Given the description of an element on the screen output the (x, y) to click on. 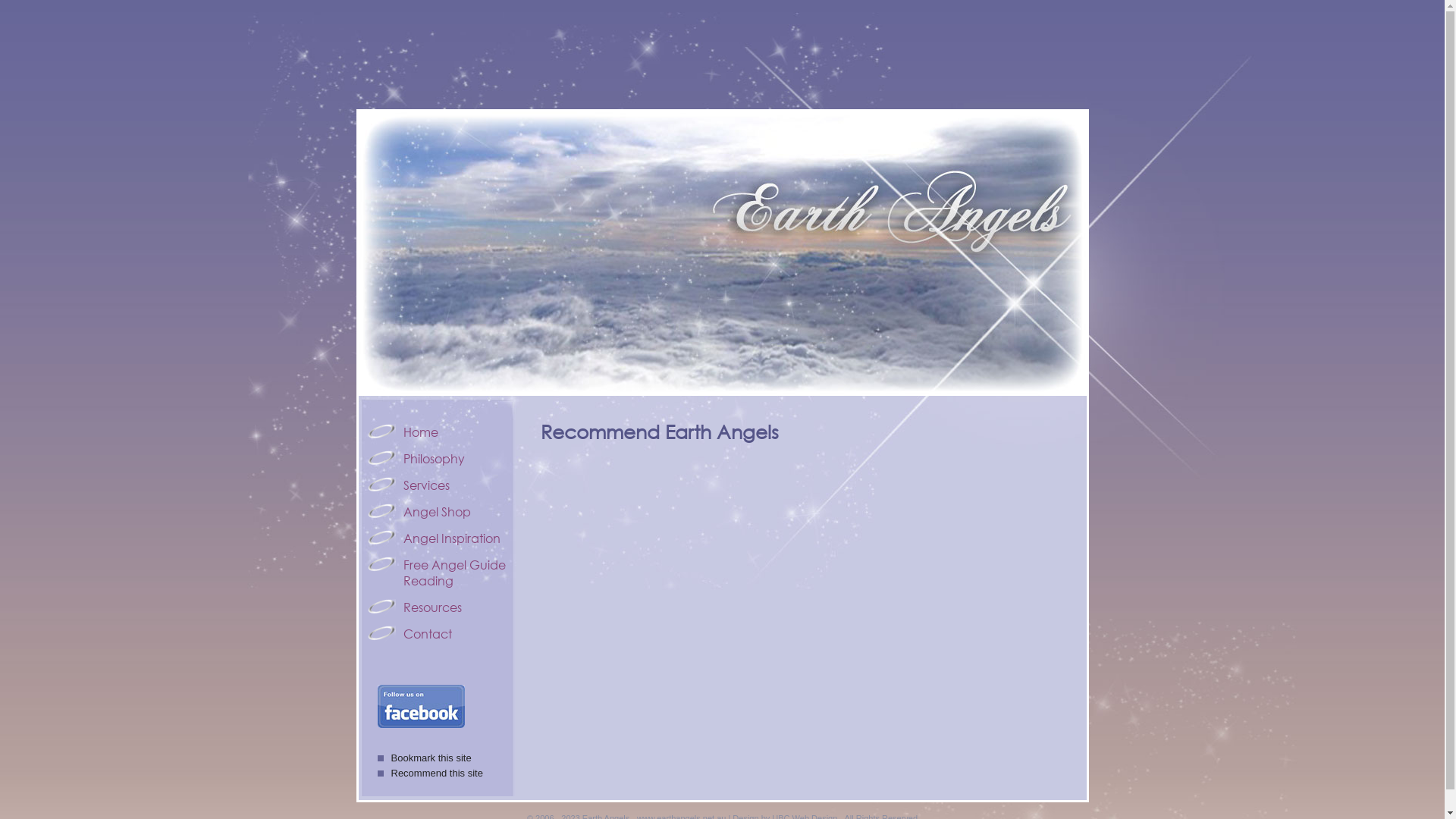
Earth Angels Element type: hover (721, 253)
Recommend this site Element type: text (430, 772)
Resources Element type: text (438, 606)
Contact Element type: text (438, 633)
Philosophy Element type: text (438, 458)
Home Element type: text (438, 431)
Bookmark this site Element type: text (424, 757)
Angel Shop Element type: text (438, 511)
Free Angel Guide Reading Element type: text (438, 572)
Services Element type: text (438, 484)
Find us on Facebook Element type: hover (424, 706)
Angel Inspiration Element type: text (438, 537)
